Given the description of an element on the screen output the (x, y) to click on. 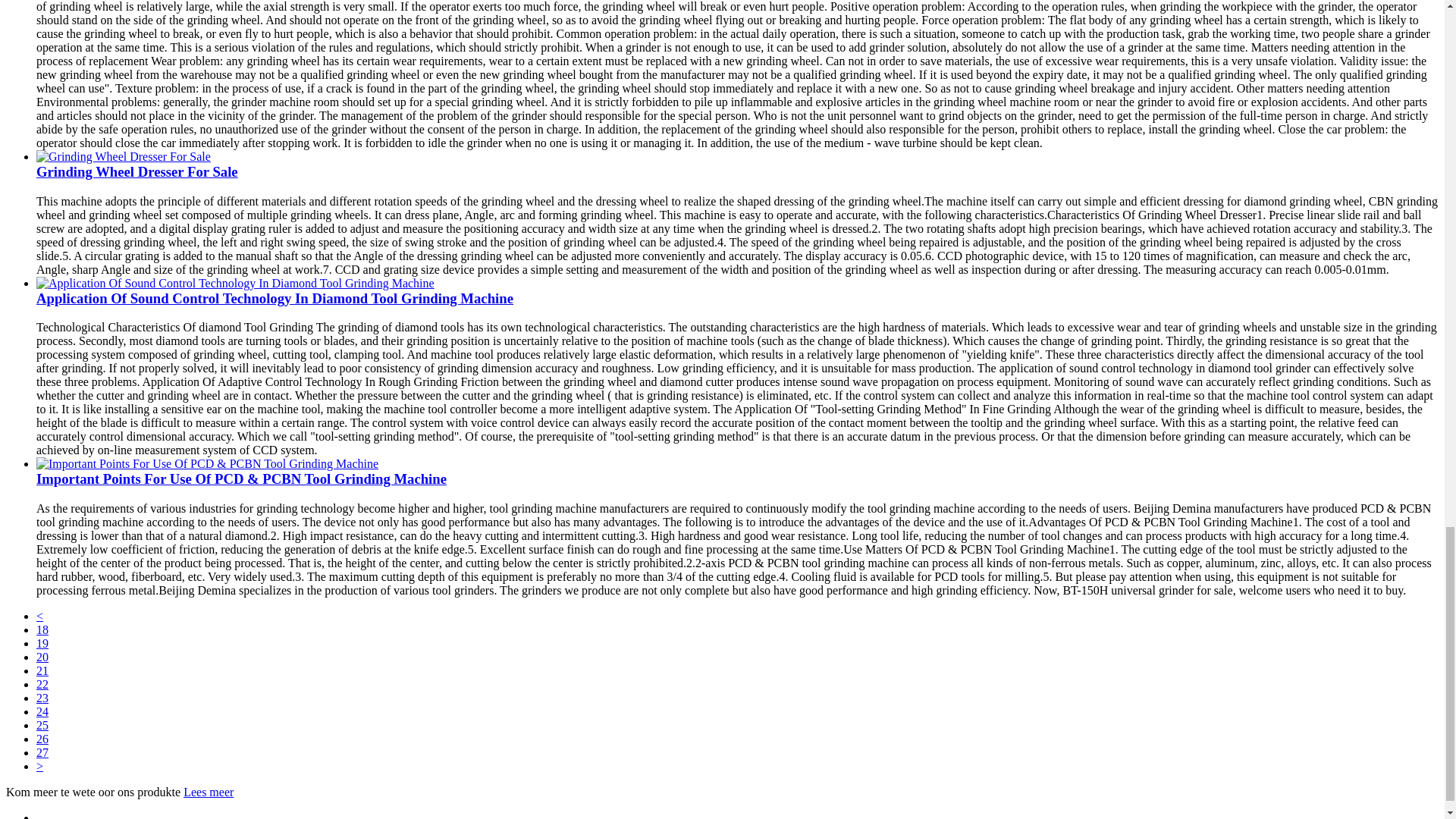
19 (42, 643)
20 (42, 656)
24 (42, 711)
18 (42, 629)
22 (42, 684)
Grinding Wheel Dresser For Sale (137, 171)
23 (42, 697)
Lees meer (207, 791)
25 (42, 725)
26 (42, 738)
Grinding Wheel Dresser For Sale (123, 156)
21 (42, 670)
